Given the description of an element on the screen output the (x, y) to click on. 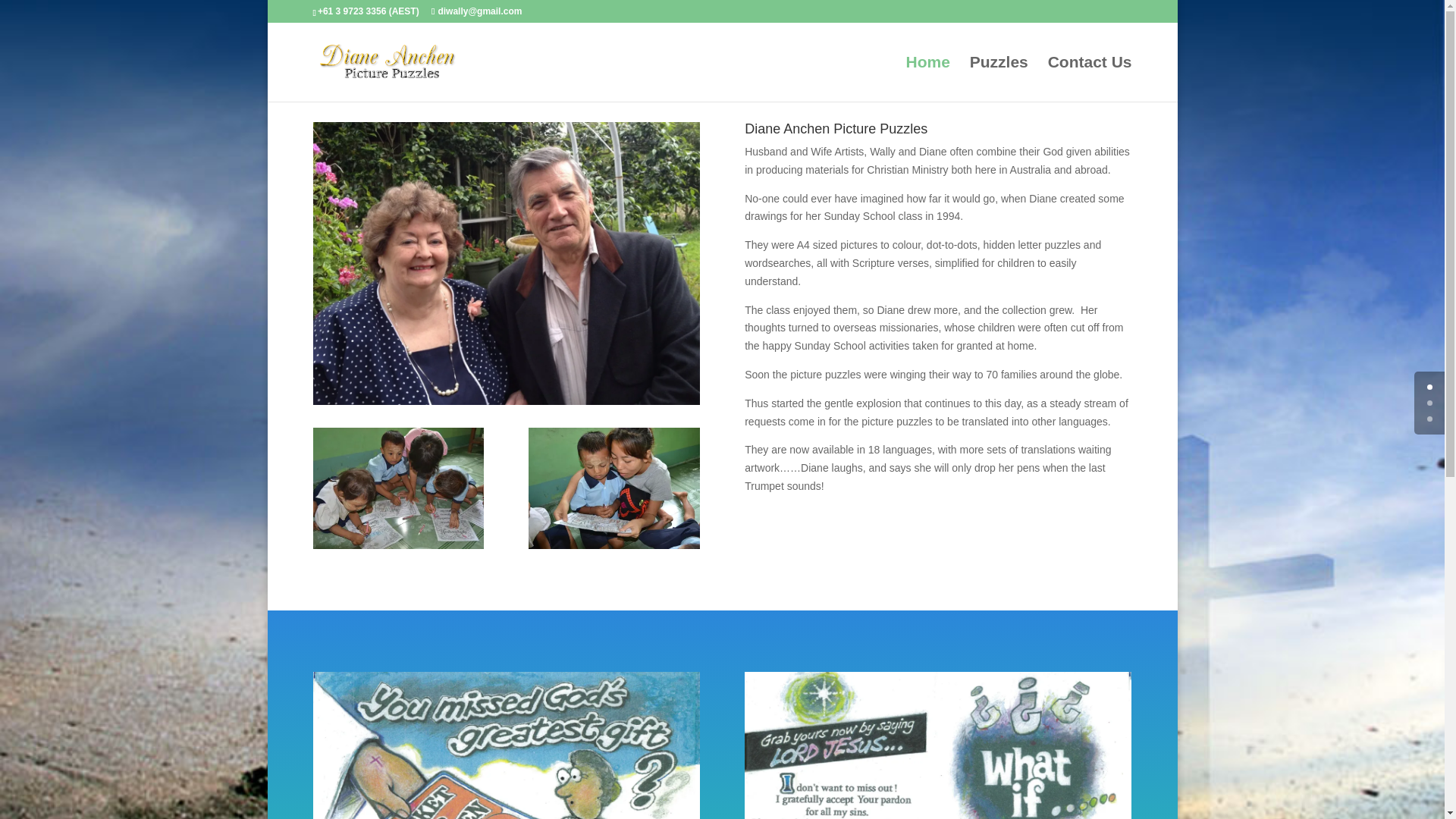
gospel tract b (937, 745)
Contact Us (1090, 78)
gospel tract a (505, 745)
Home (927, 78)
Puzzles (998, 78)
